Given the description of an element on the screen output the (x, y) to click on. 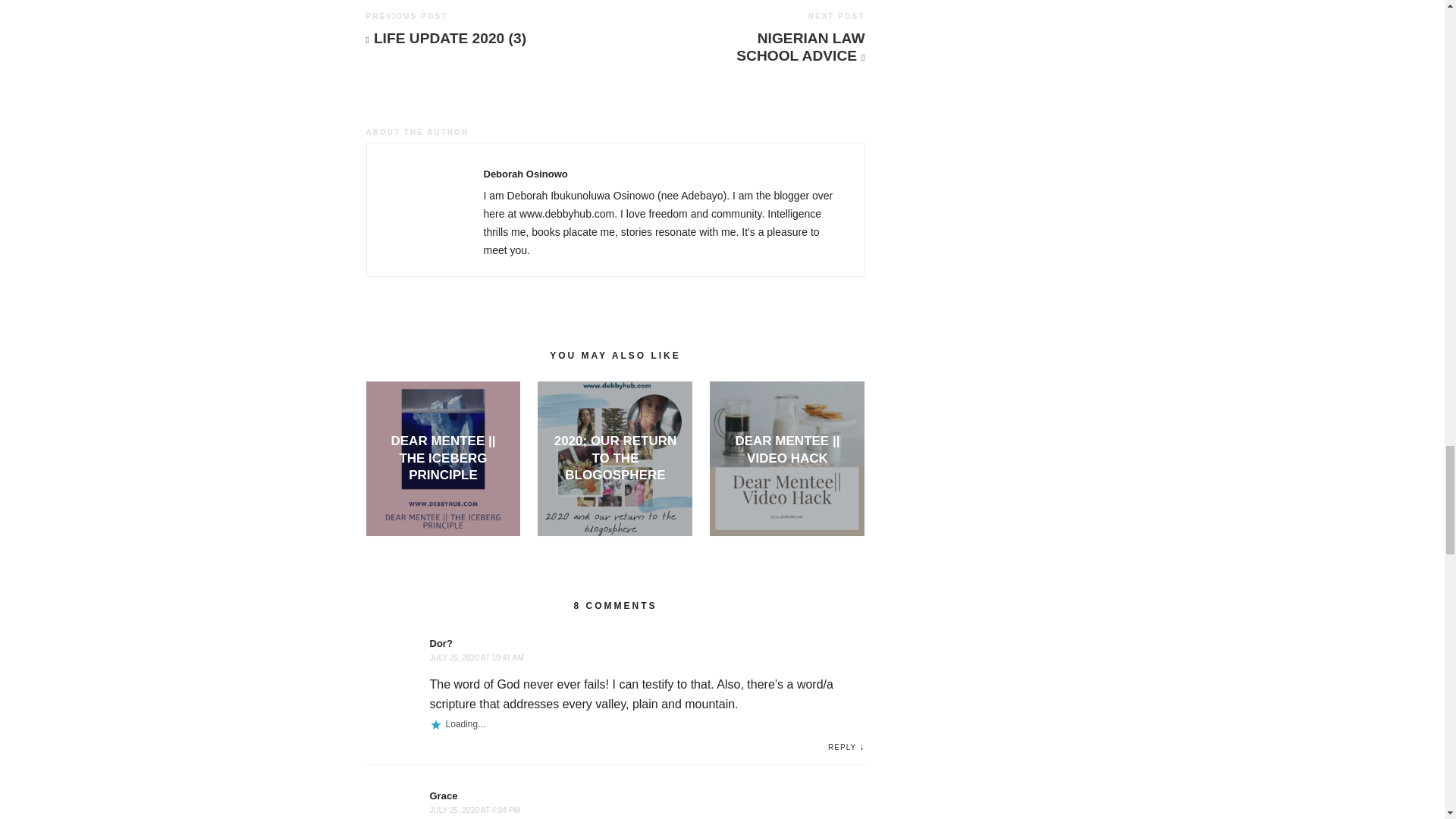
NIGERIAN LAW SCHOOL ADVICE (780, 46)
2020; OUR RETURN TO THE BLOGOSPHERE (615, 457)
